Given the description of an element on the screen output the (x, y) to click on. 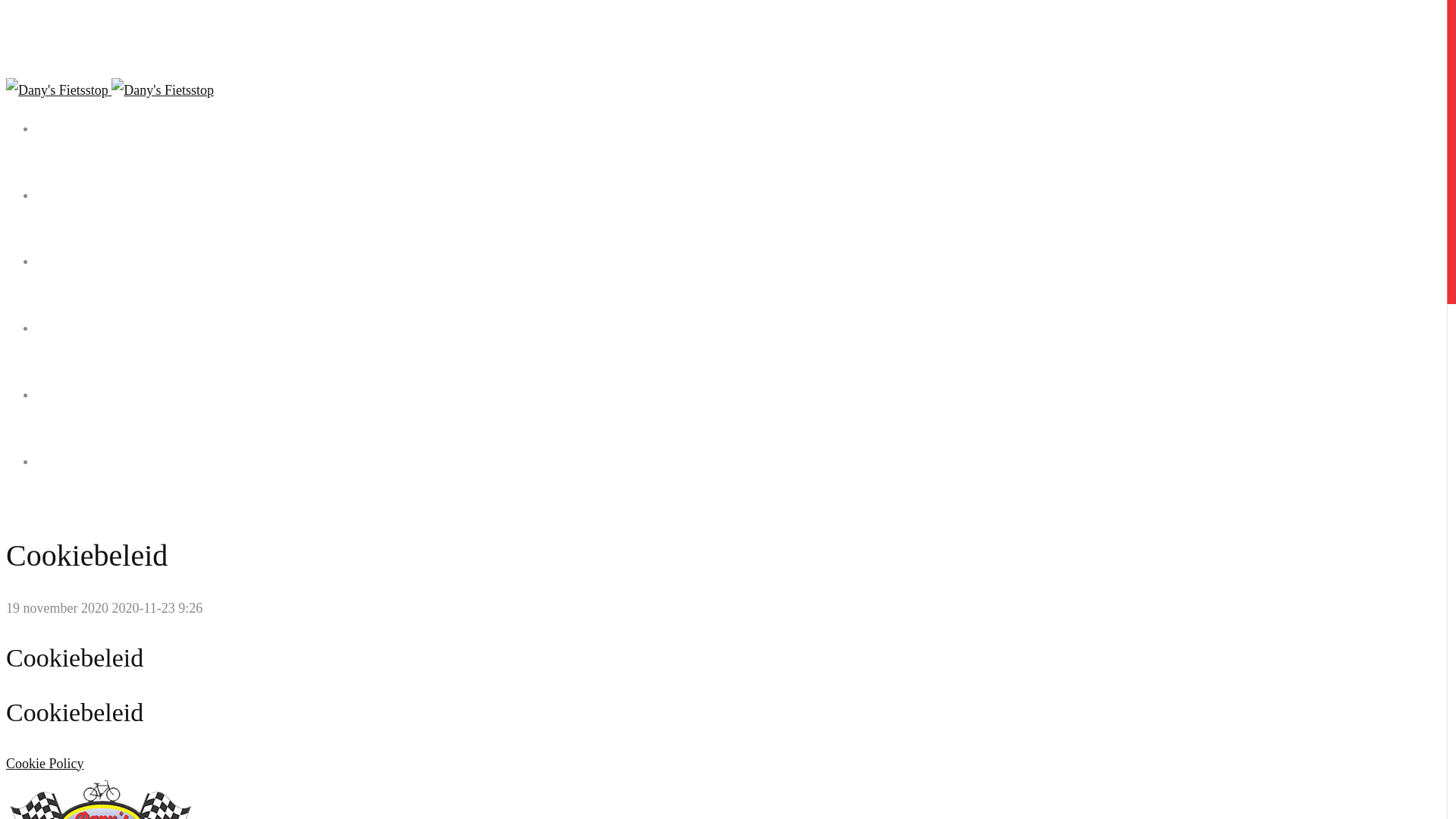
Fietsherstellingen Element type: text (738, 415)
Home Element type: text (738, 149)
Legeweg 11, 9308 Gijzegem Element type: text (97, 37)
0498 54 92 76 Element type: text (66, 19)
Cookie Policy Element type: text (45, 763)
Fietsaccessoires Element type: text (738, 348)
Contact Element type: text (738, 482)
E-bikes Element type: text (738, 282)
Fietsen Element type: text (738, 216)
info@fietsstop.be Element type: text (74, 56)
